Given the description of an element on the screen output the (x, y) to click on. 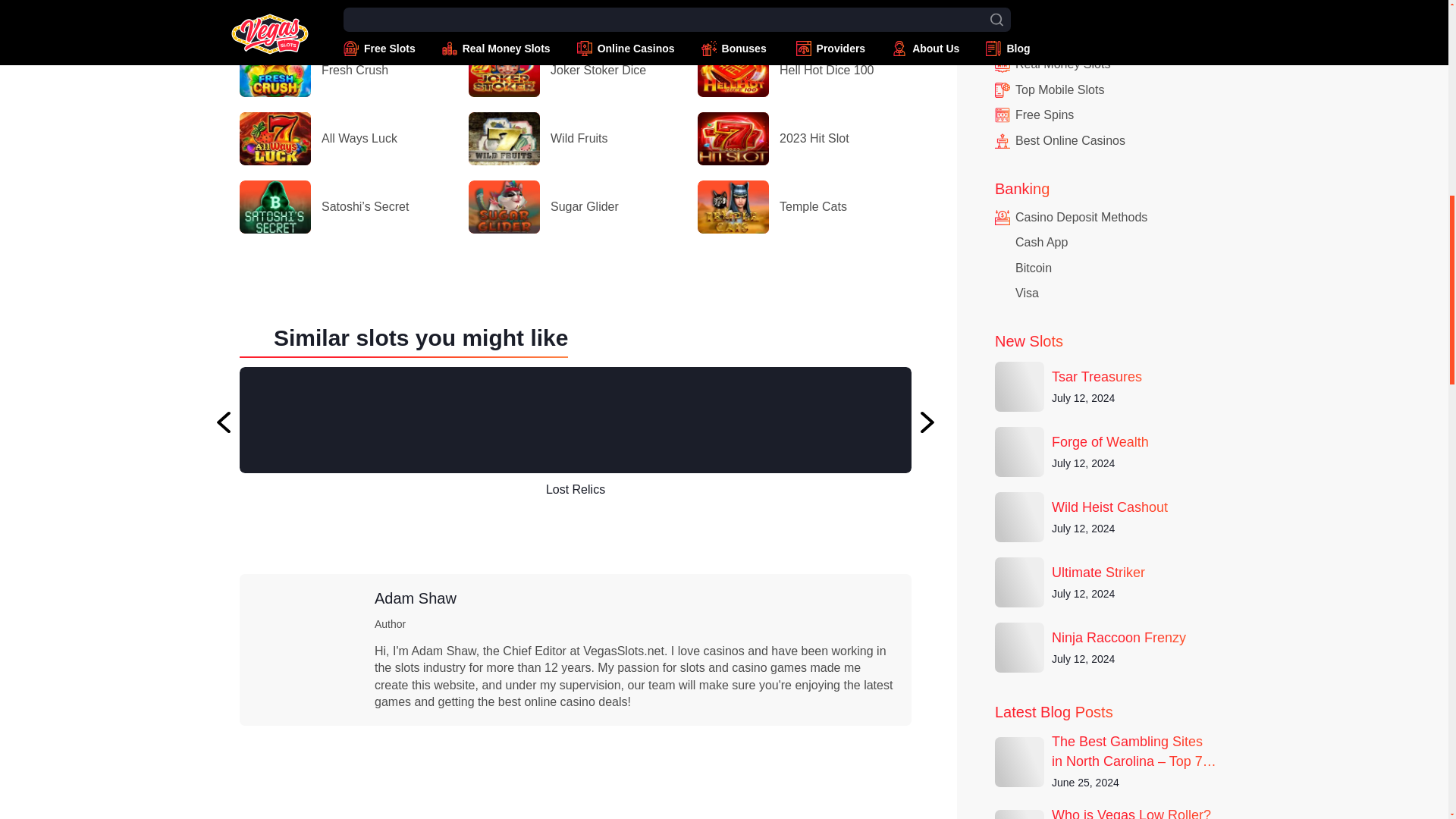
Posts By Adam Shaw (415, 597)
